Given the description of an element on the screen output the (x, y) to click on. 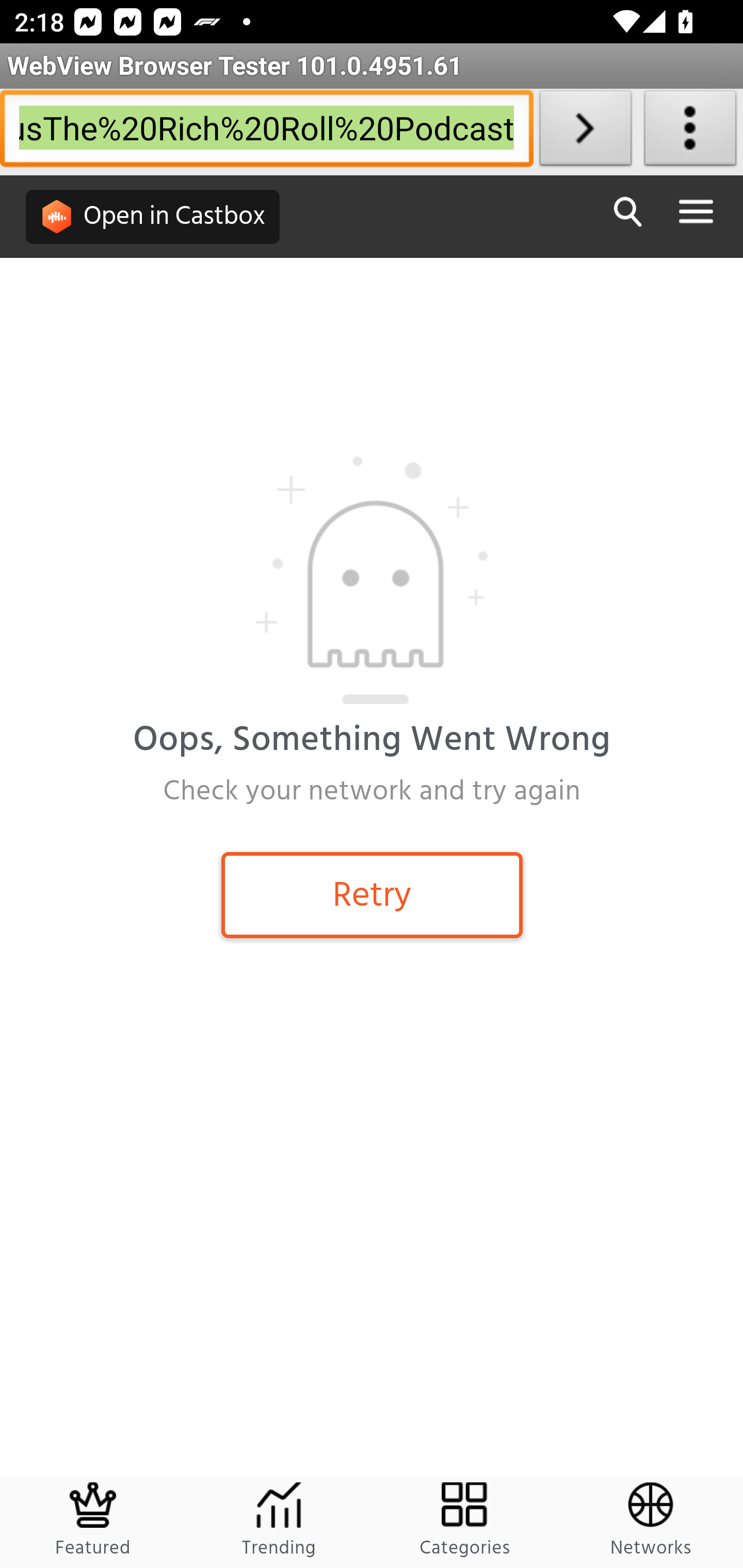
Load URL (585, 132)
About WebView (690, 132)
Retry (371, 894)
Featured (93, 1521)
Trending (278, 1521)
Categories (465, 1521)
Networks (649, 1521)
